Given the description of an element on the screen output the (x, y) to click on. 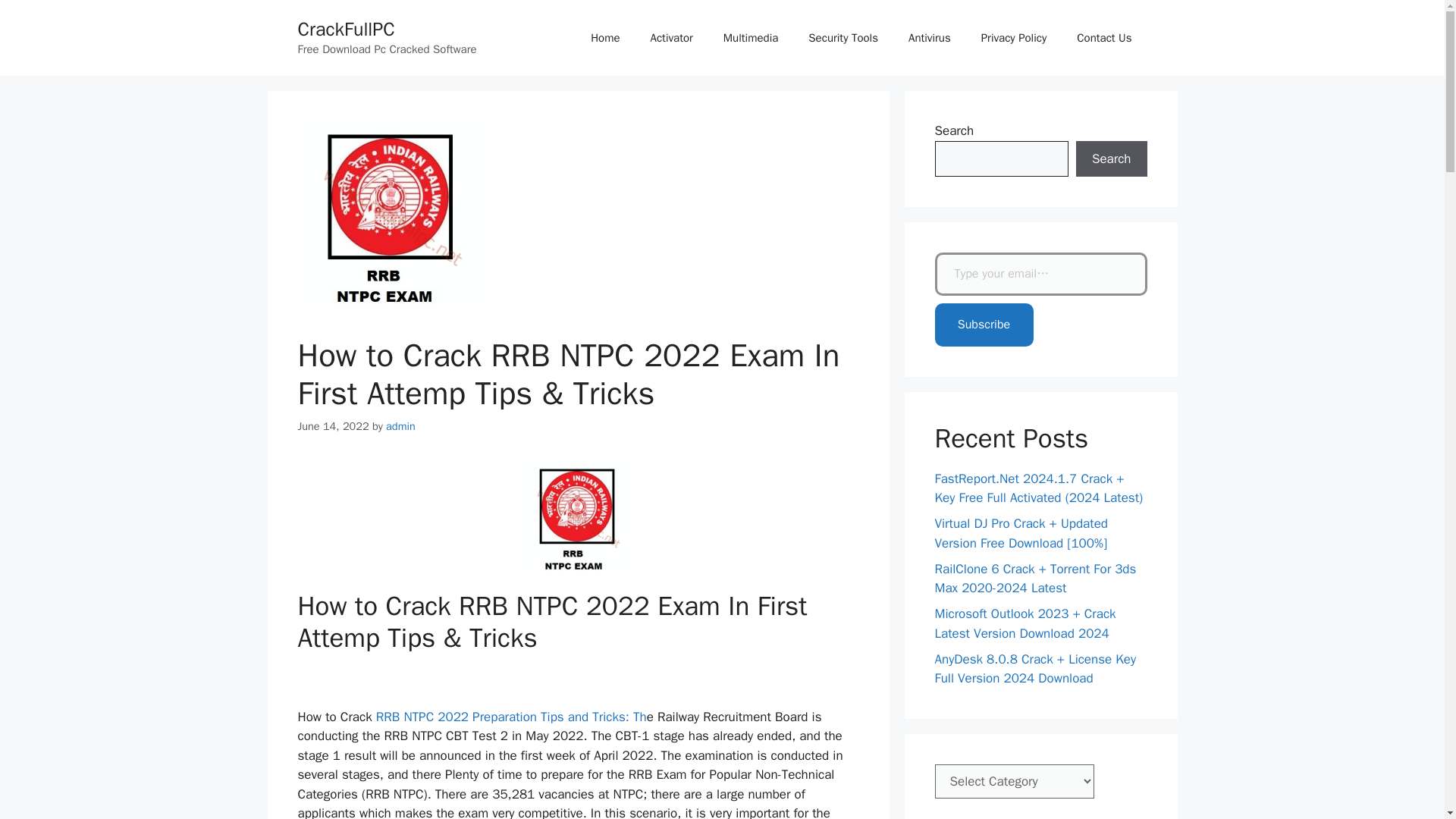
View all posts by admin (399, 426)
Antivirus (929, 37)
Privacy Policy (1014, 37)
Contact Us (1104, 37)
Security Tools (843, 37)
Multimedia (750, 37)
CrackFullPC (345, 28)
Home (604, 37)
 RRB NTPC 2022 Preparation Tips and Tricks: Th (509, 716)
Activator (670, 37)
